Given the description of an element on the screen output the (x, y) to click on. 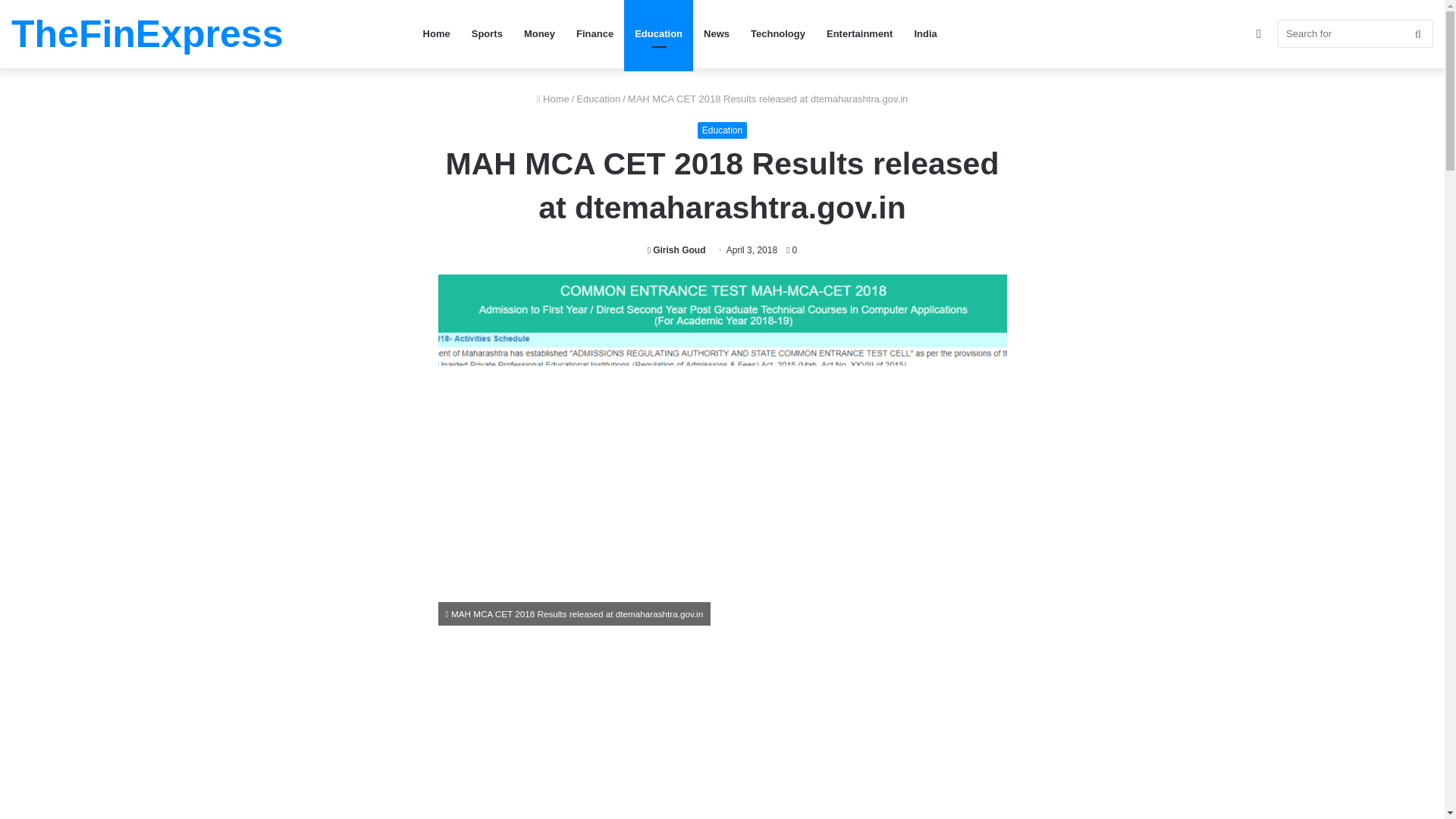
Education (721, 130)
TheFinExpress (146, 34)
Technology (777, 33)
Girish Goud (676, 249)
Entertainment (858, 33)
Education (598, 98)
Search for (1355, 33)
Girish Goud (676, 249)
Education (658, 33)
Home (553, 98)
